Given the description of an element on the screen output the (x, y) to click on. 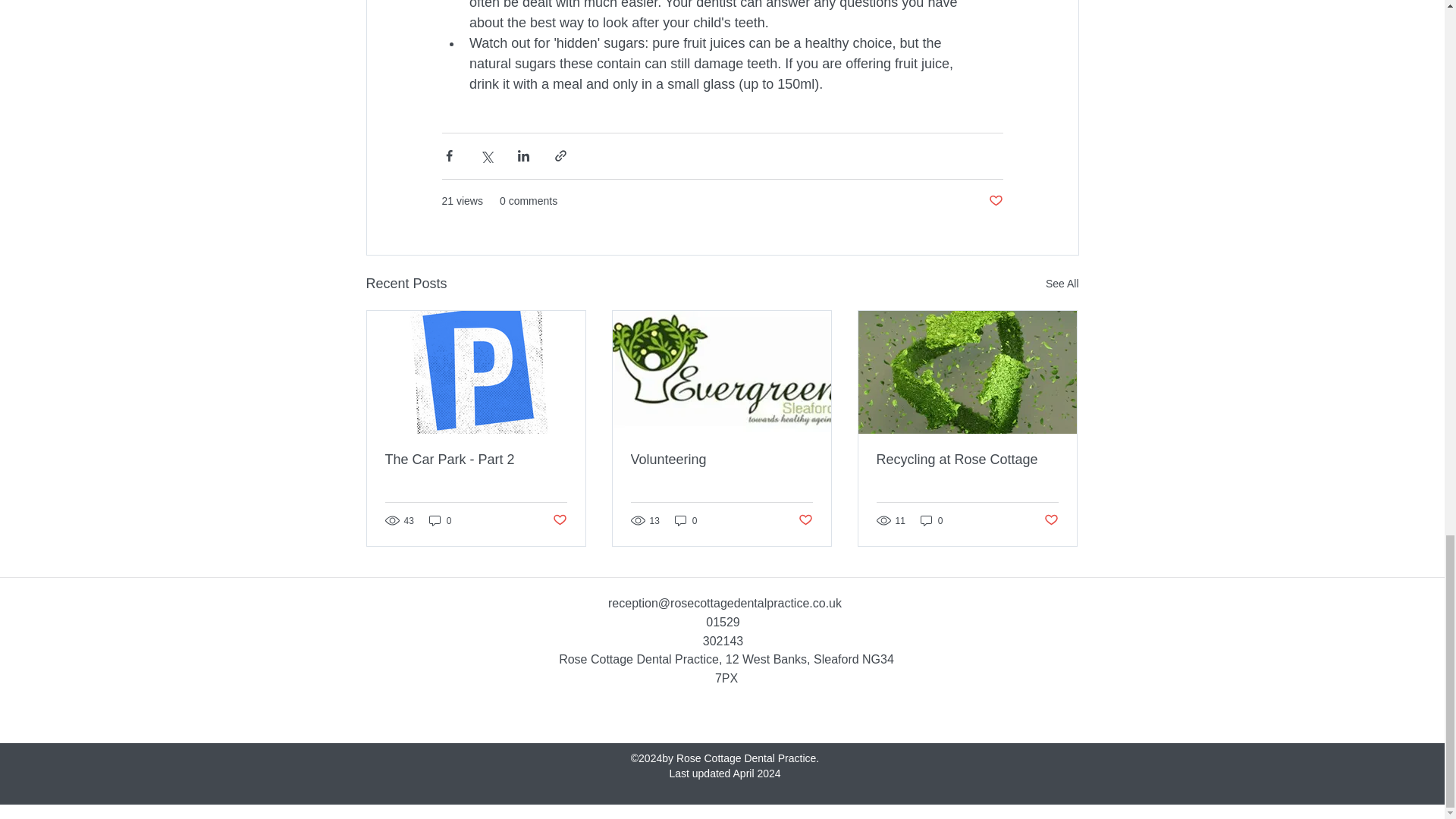
Volunteering (721, 459)
See All (1061, 283)
Recycling at Rose Cottage (967, 459)
The Car Park - Part 2 (476, 459)
Post not marked as liked (995, 201)
Post not marked as liked (558, 520)
0 (931, 520)
Post not marked as liked (804, 520)
0 (440, 520)
Post not marked as liked (1050, 520)
0 (685, 520)
